Given the description of an element on the screen output the (x, y) to click on. 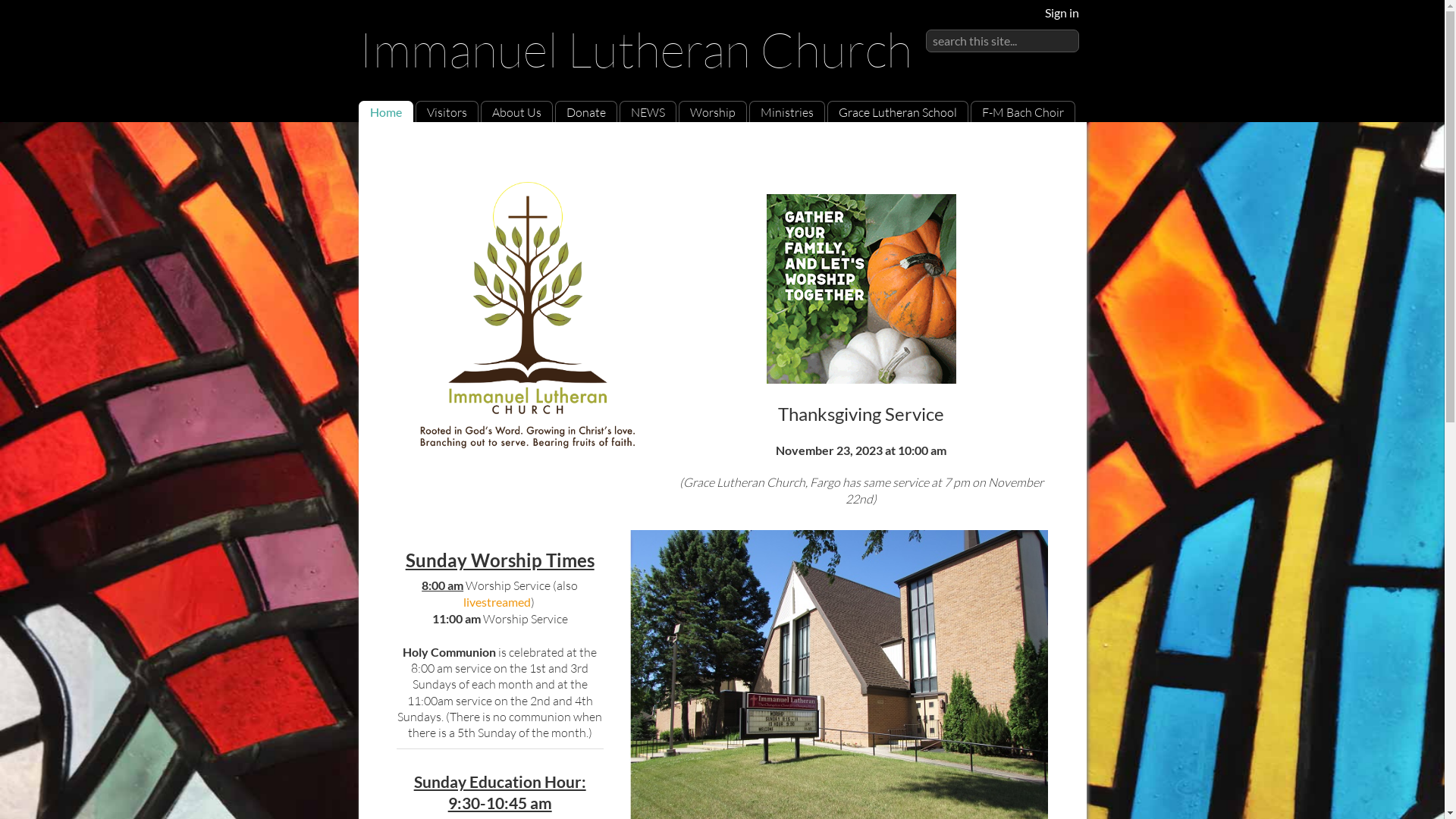
Donate Element type: text (585, 111)
livestreamed Element type: text (496, 601)
Sign in Element type: text (1061, 12)
Grace Lutheran School Element type: text (897, 111)
